Given the description of an element on the screen output the (x, y) to click on. 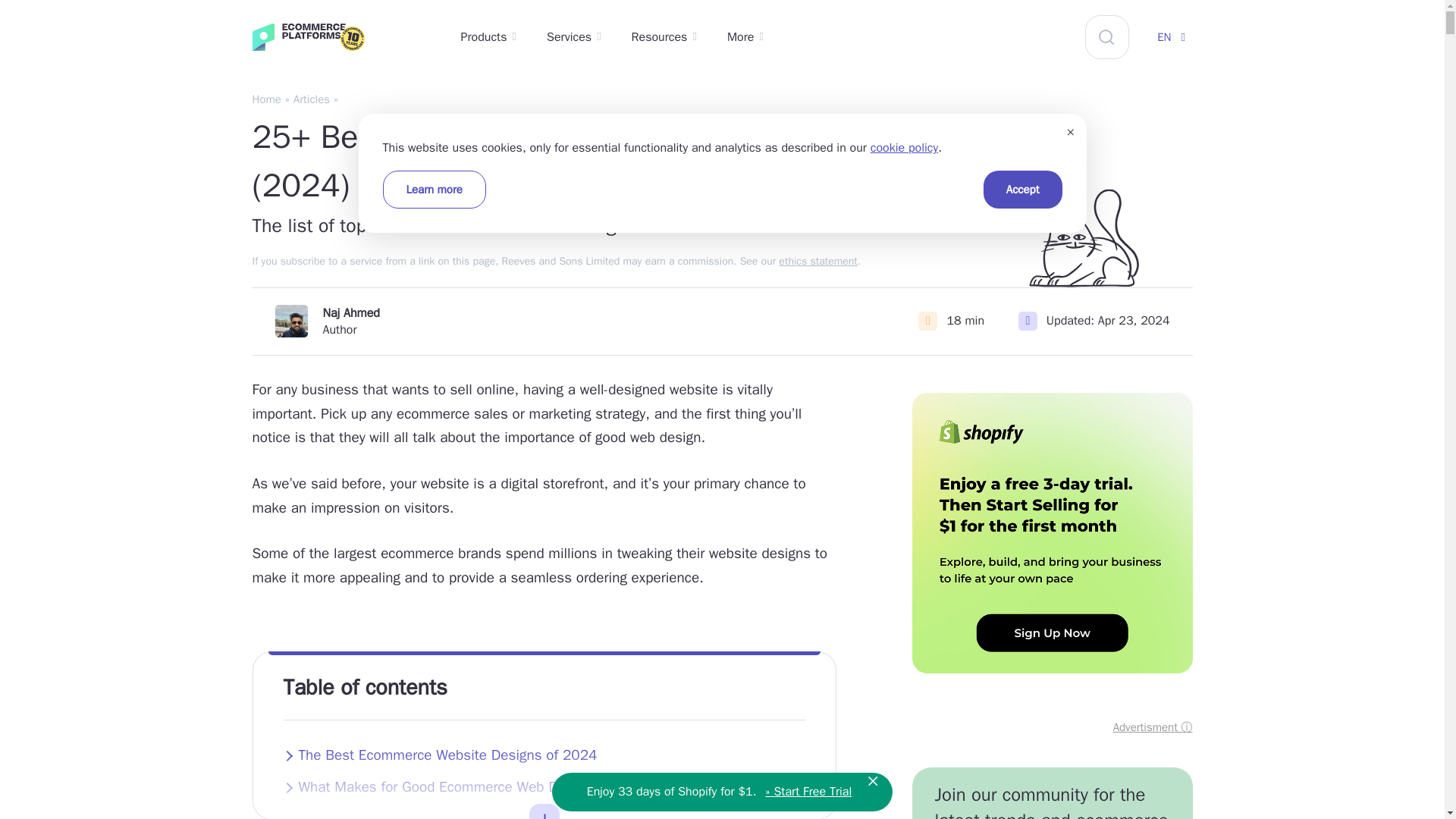
More (744, 37)
Services (573, 37)
Search for: (1106, 36)
Products (488, 37)
Ecommerce Platforms (336, 39)
Resources (663, 37)
